Given the description of an element on the screen output the (x, y) to click on. 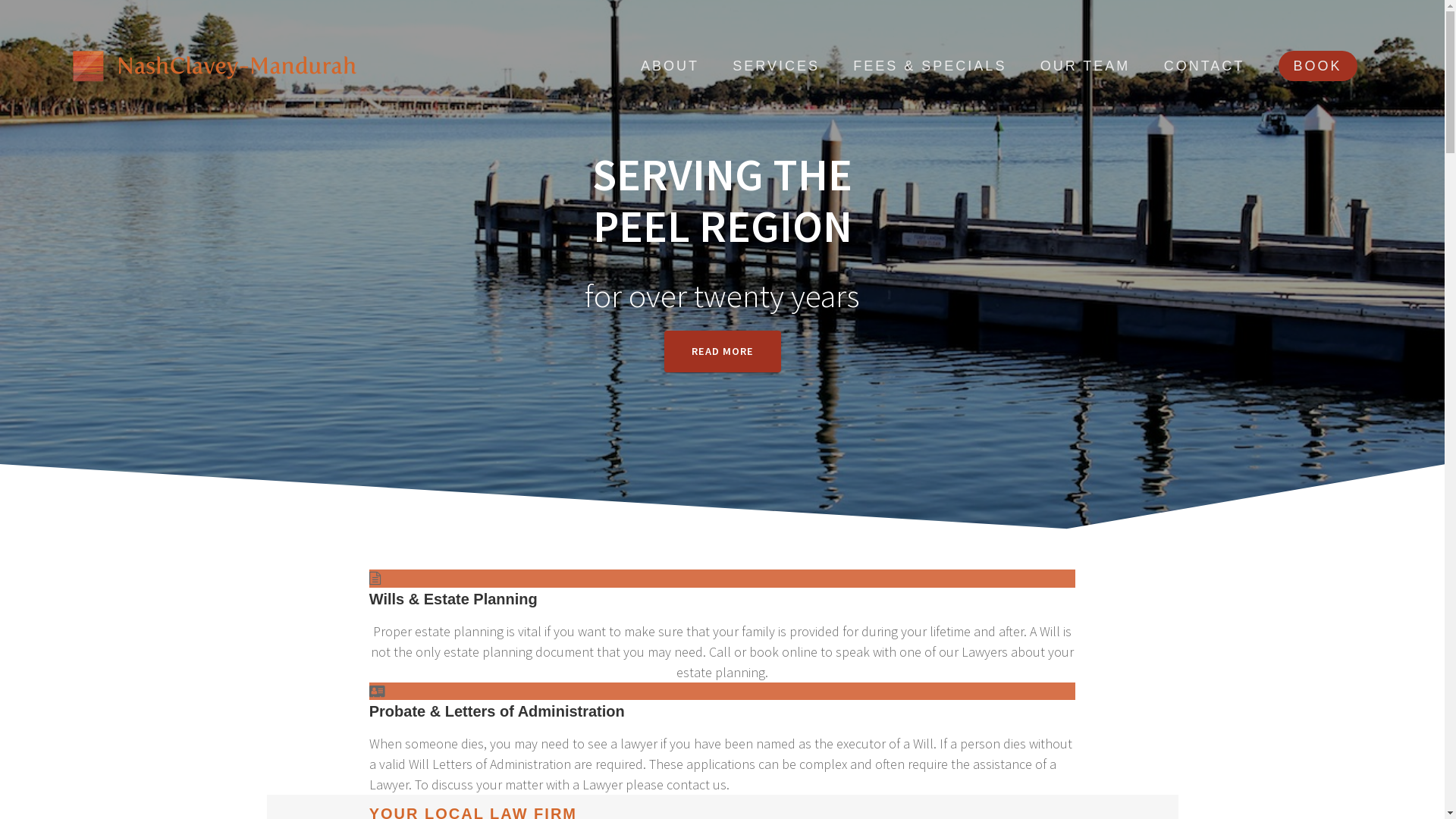
FEES & SPECIALS Element type: text (929, 66)
ABOUT Element type: text (669, 66)
CONTACT Element type: text (1204, 66)
OUR TEAM Element type: text (1085, 66)
BOOK Element type: text (1317, 65)
READ MORE Element type: text (722, 351)
Skip to content Element type: text (0, 0)
SERVICES Element type: text (775, 66)
